Given the description of an element on the screen output the (x, y) to click on. 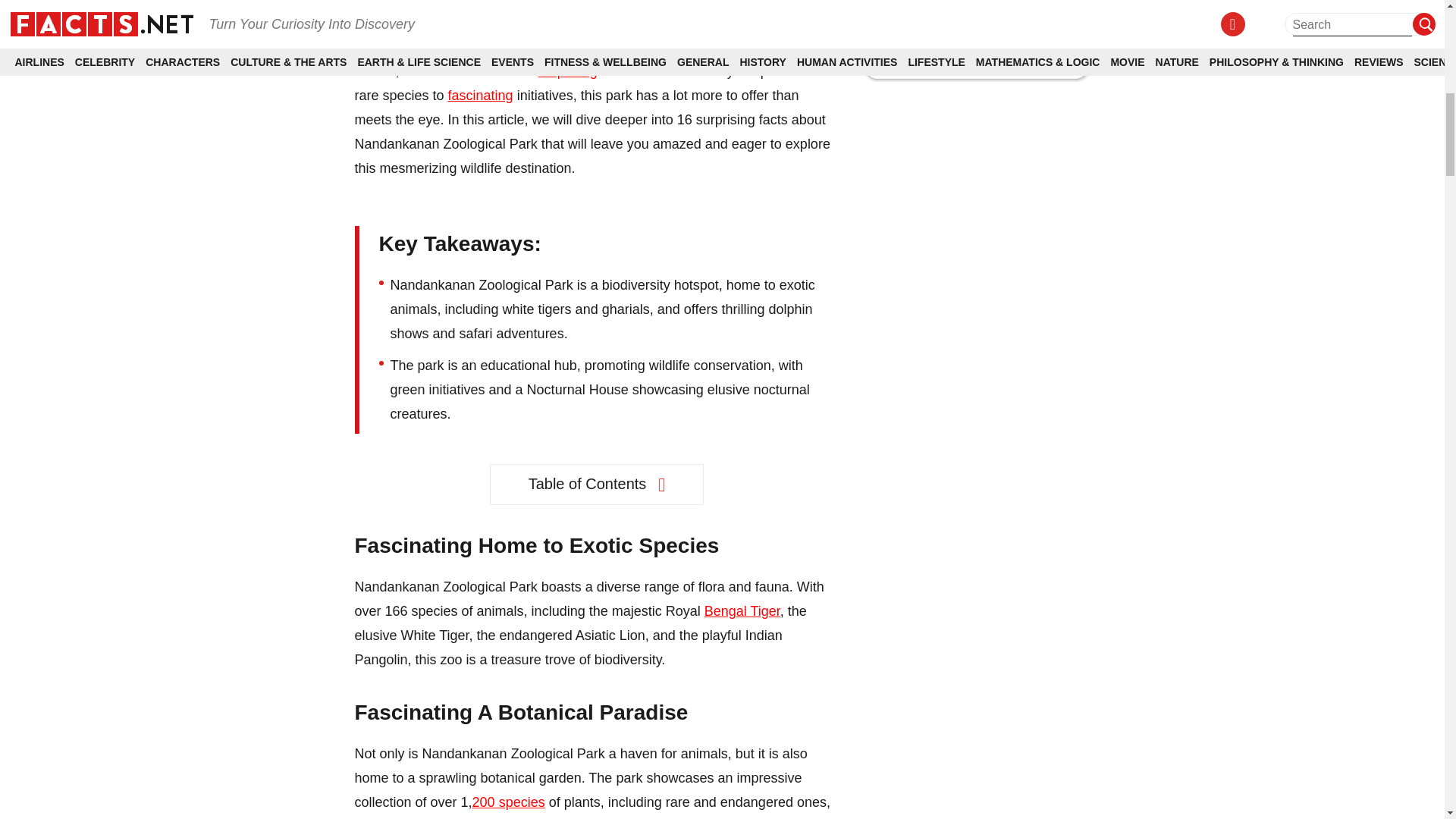
surprising (567, 70)
fascinating (480, 95)
200 species (507, 801)
Bengal Tiger (742, 611)
